Given the description of an element on the screen output the (x, y) to click on. 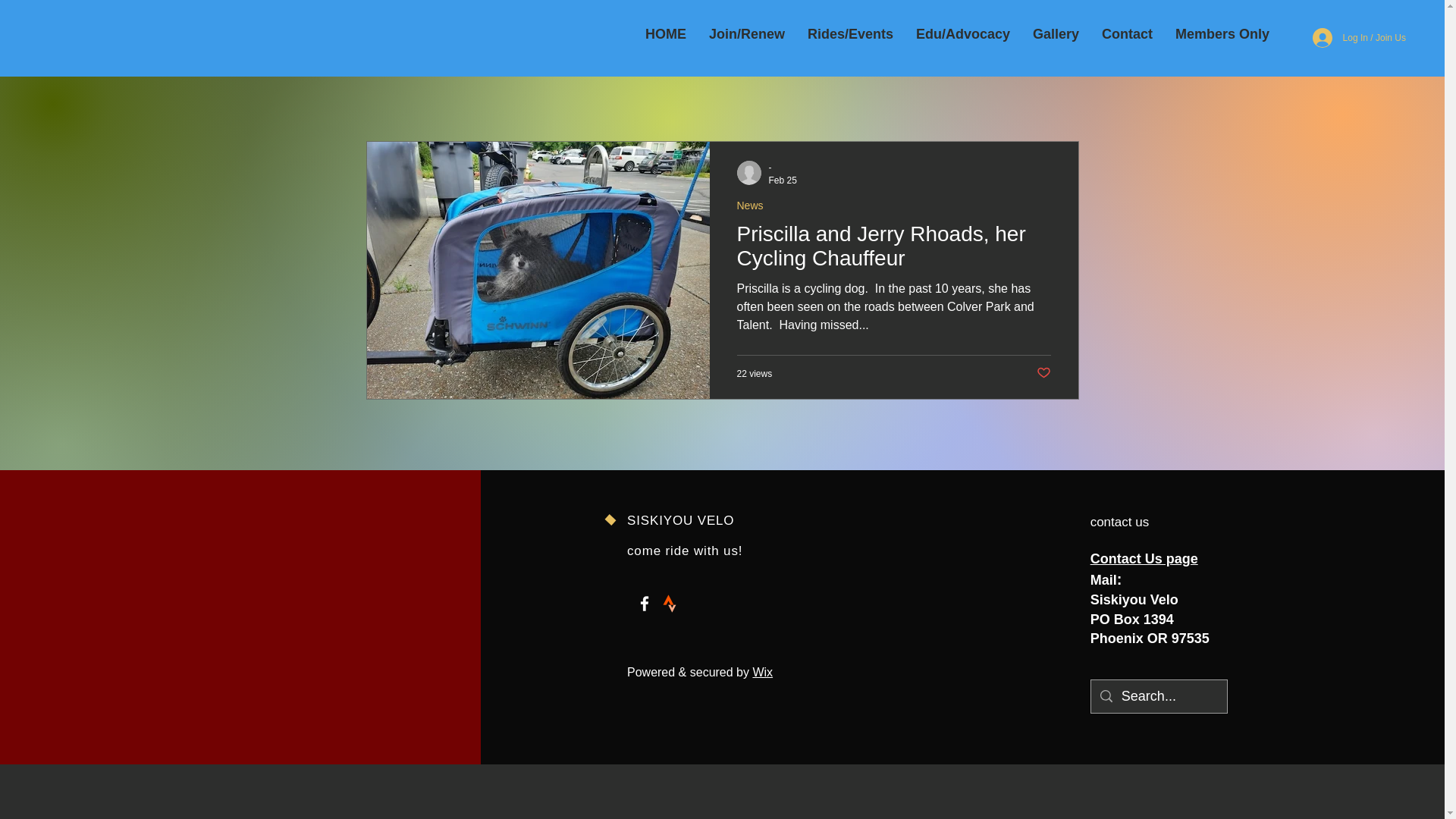
Feb 25 (782, 179)
Contact Us page (1144, 558)
SISKIYOU VELO (680, 519)
Priscilla and Jerry Rhoads, her Cycling Chauffeur (893, 250)
Contact (1126, 34)
Members Only (1222, 34)
News (749, 205)
Wix (762, 671)
- (782, 167)
HOME (665, 34)
Post not marked as liked (1042, 373)
Gallery (1056, 34)
